Given the description of an element on the screen output the (x, y) to click on. 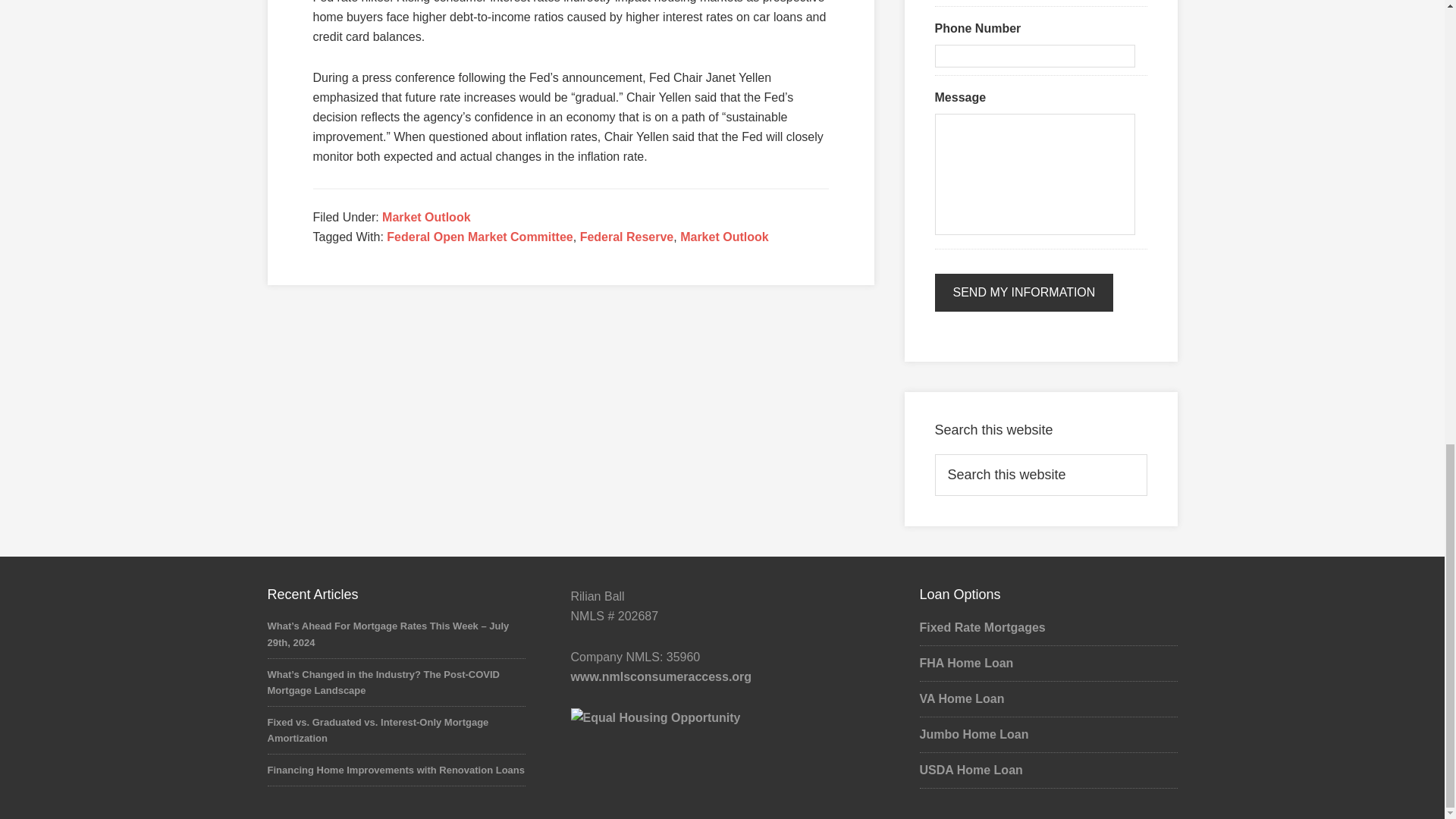
Financing Home Improvements with Renovation Loans (395, 769)
USDA Home Loan (970, 769)
Federal Open Market Committee (479, 236)
Market Outlook (723, 236)
Send My Information (1023, 292)
Federal Reserve (626, 236)
VA Home Loan (961, 698)
Jumbo Home Loan (972, 734)
Fixed Rate Mortgages (981, 626)
Market Outlook (425, 216)
www.nmlsconsumeraccess.org (660, 676)
FHA Home Loan (965, 662)
Fixed vs. Graduated vs. Interest-Only Mortgage Amortization (376, 729)
